Given the description of an element on the screen output the (x, y) to click on. 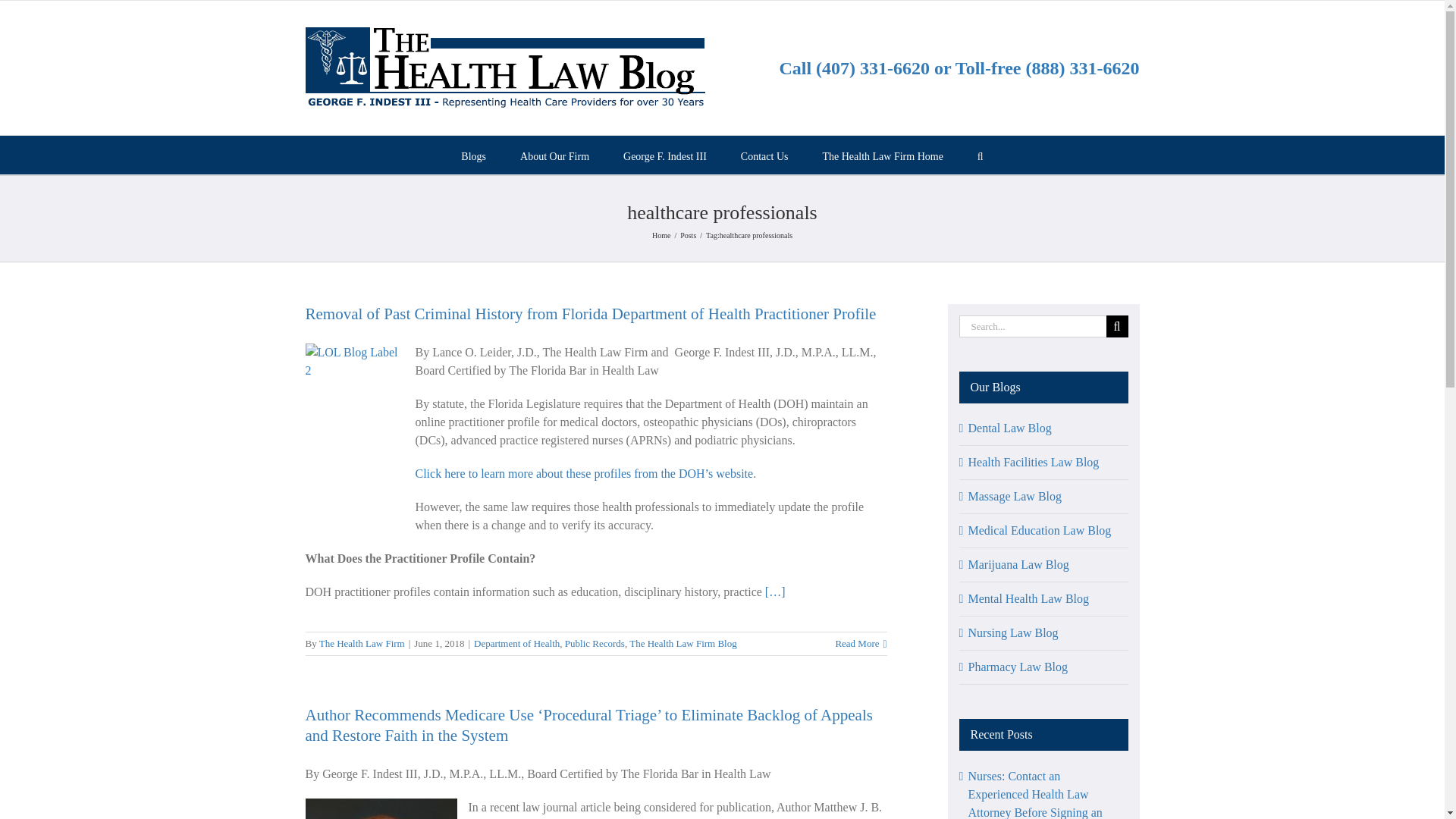
The Health Law Firm Home (882, 154)
Posts (687, 234)
Contact Us (765, 154)
George F. Indest III (664, 154)
Home (660, 234)
About Our Firm (554, 154)
Posts by The Health Law Firm (361, 643)
